Given the description of an element on the screen output the (x, y) to click on. 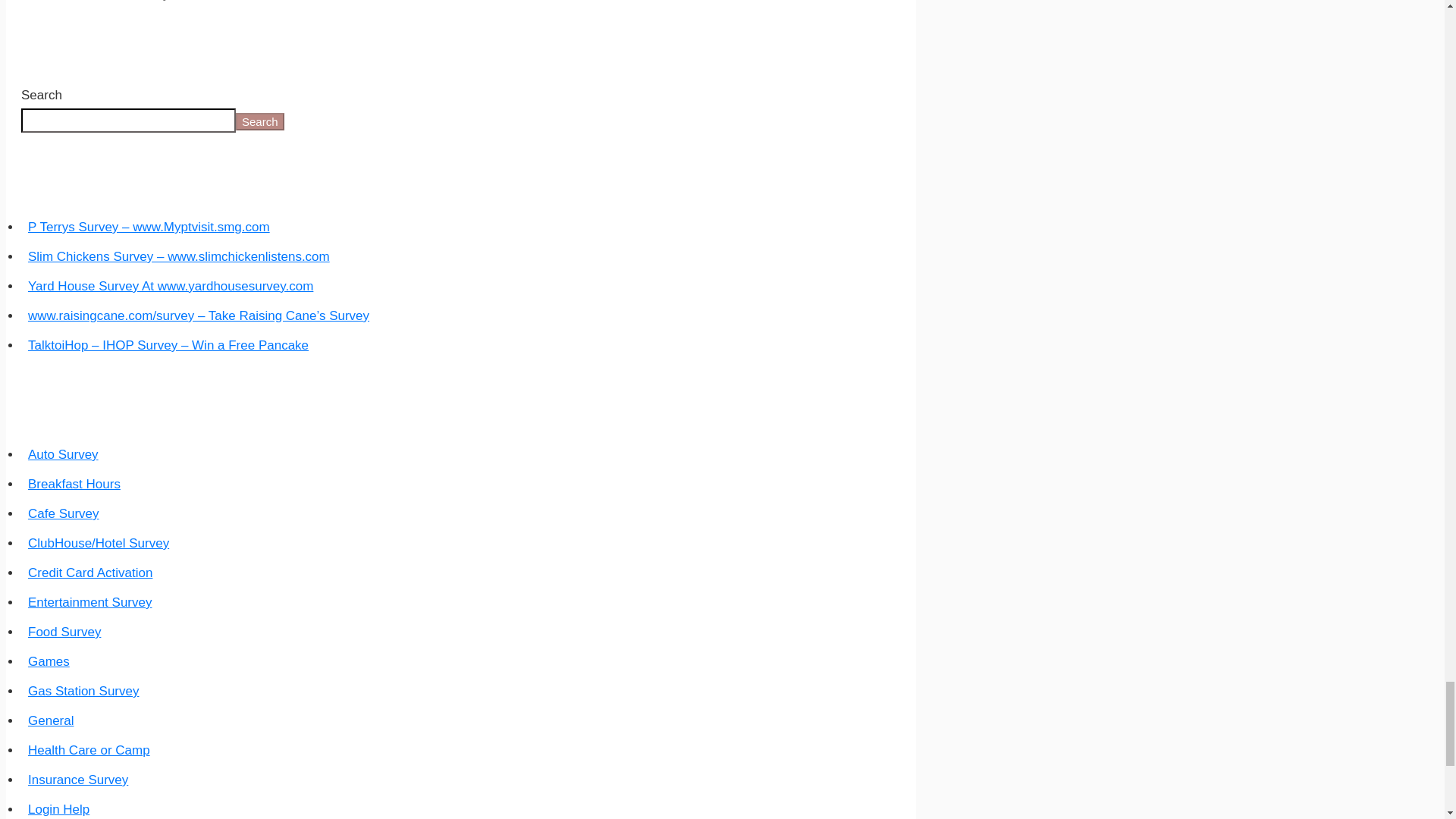
Yard House Survey At www.yardhousesurvey.com (170, 286)
Search (259, 121)
